Given the description of an element on the screen output the (x, y) to click on. 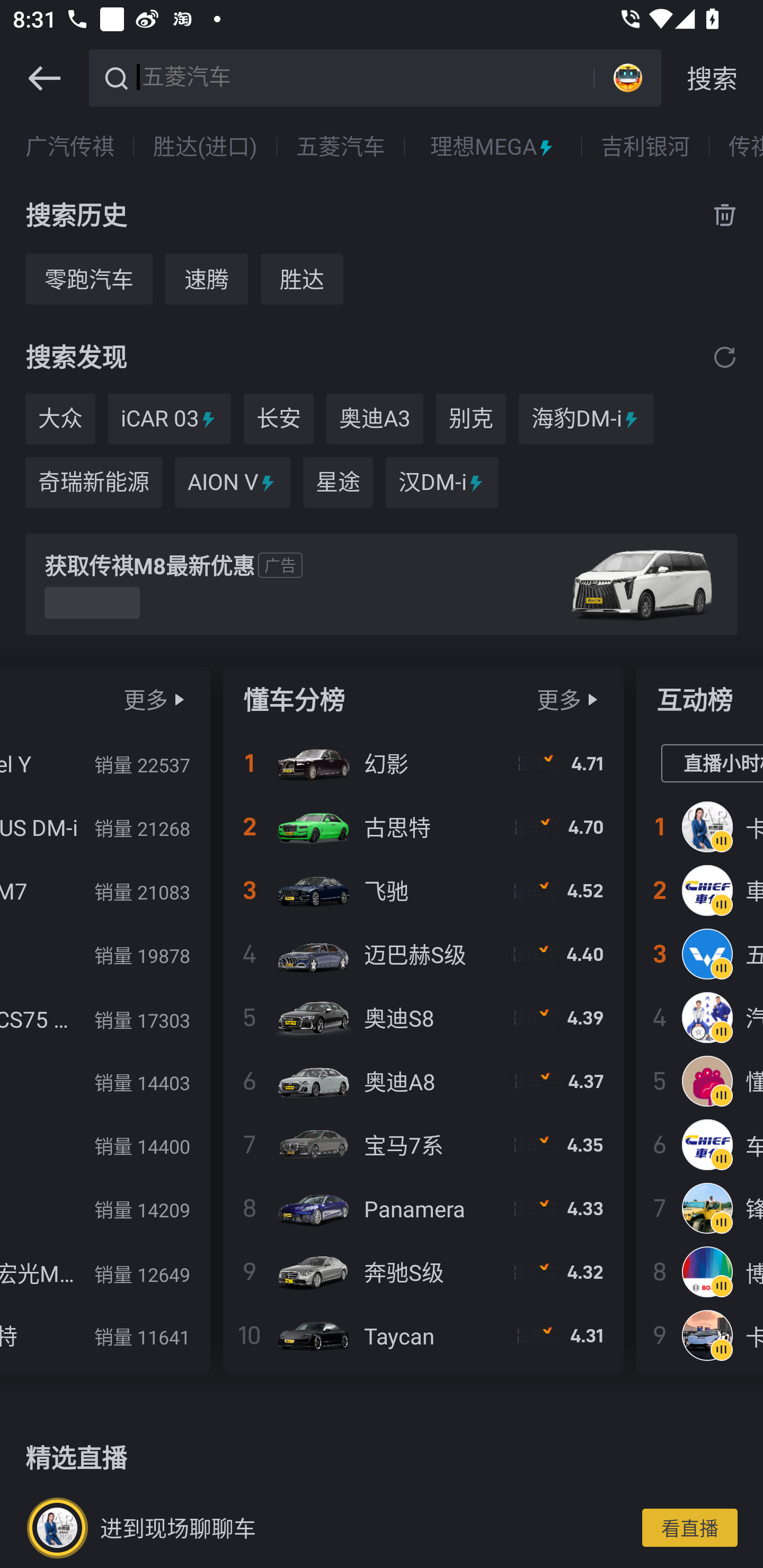
 五菱汽车 (364, 76)
 (44, 78)
搜索 (711, 78)
广汽传祺 (69, 147)
胜达(进口) (205, 147)
五菱汽车 (340, 147)
理想MEGA (493, 147)
吉利银河 (645, 147)
零跑汽车 (88, 278)
速腾 (206, 278)
胜达 (302, 278)
 (724, 357)
大众 (60, 418)
iCAR 03 (169, 418)
长安 (278, 418)
奥迪A3 (374, 418)
别克 (470, 418)
海豹DM-i (585, 418)
奇瑞新能源 (93, 482)
AION V (232, 482)
星途 (337, 482)
汉DM-i (442, 482)
获取传祺M8最新优惠 广告 立享优惠 (381, 584)
更多 (145, 699)
更多 (558, 699)
 (178, 699)
 (592, 699)
Model Y 销量 22537 (104, 763)
幻影 4.71 (423, 763)
直播小时榜 (712, 763)
秦PLUS DM-i 销量 21268 (104, 826)
古思特 4.70 (423, 826)
卡泰驰（合肥）琪琪优车 (700, 826)
问界M7 销量 21083 (104, 890)
飞驰 4.52 (423, 890)
車仆 (700, 890)
轩逸 销量 19878 (104, 953)
迈巴赫S级 4.40 (423, 953)
五菱汽车 (700, 953)
长安CS75 PLUS 销量 17303 (104, 1017)
奥迪S8 4.39 (423, 1017)
汽车兄弟直播间 (700, 1017)
海鸥 销量 14403 (104, 1080)
奥迪A8 4.37 (423, 1080)
懂车帝在线选车 (700, 1080)
朗逸 销量 14400 (104, 1144)
宝马7系 4.35 (423, 1144)
车仆汽车美容旗舰店 (700, 1144)
速腾 销量 14209 (104, 1208)
Panamera 4.33 (423, 1208)
锋哥說车 (700, 1208)
五菱宏光MINIEV 销量 12649 (104, 1271)
奔驰S级 4.32 (423, 1271)
博世汽车配件旗舰店 (700, 1271)
帕萨特 销量 11641 (104, 1335)
Taycan 4.31 (423, 1335)
卡贝尔汽车用品旗舰店 (700, 1335)
进到现场聊聊车 看直播 (381, 1526)
